Given the description of an element on the screen output the (x, y) to click on. 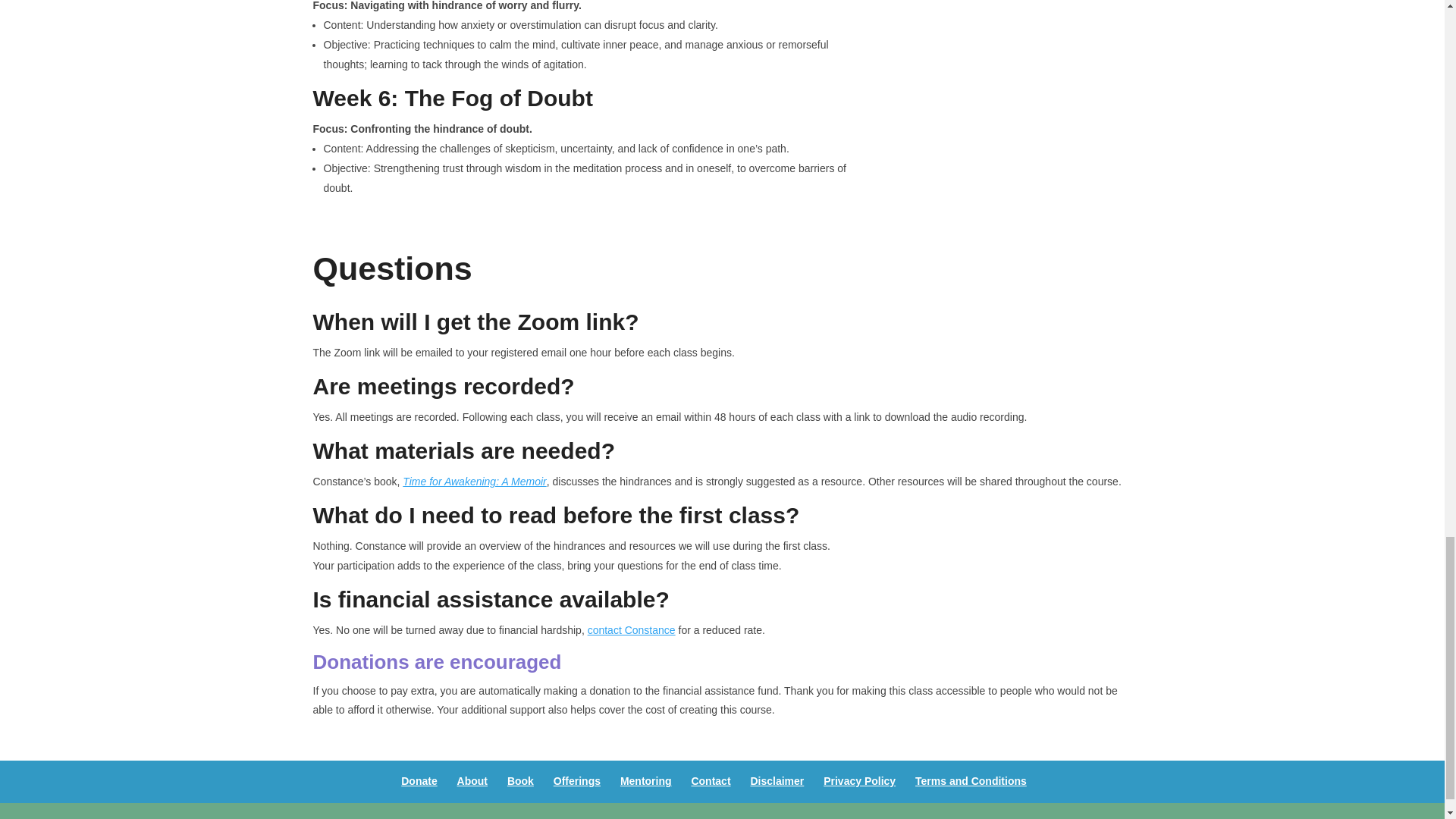
Time for Awakening: A Memoir (474, 481)
